Given the description of an element on the screen output the (x, y) to click on. 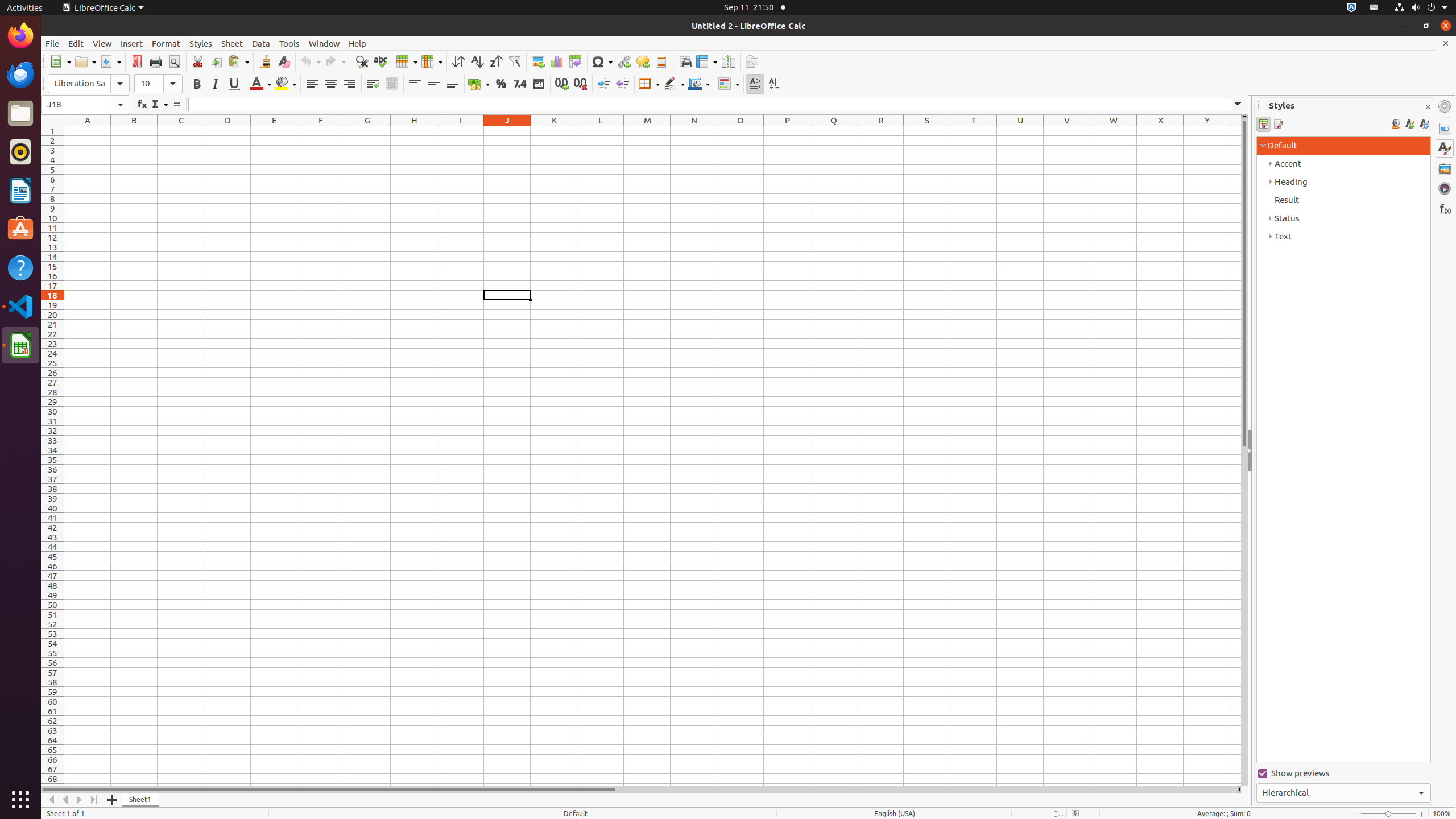
Currency Element type: push-button (478, 83)
Vertical scroll bar Element type: scroll-bar (1244, 451)
LibreOffice Calc Element type: menu (102, 7)
Date Element type: push-button (537, 83)
Navigator Element type: radio-button (1444, 188)
